Given the description of an element on the screen output the (x, y) to click on. 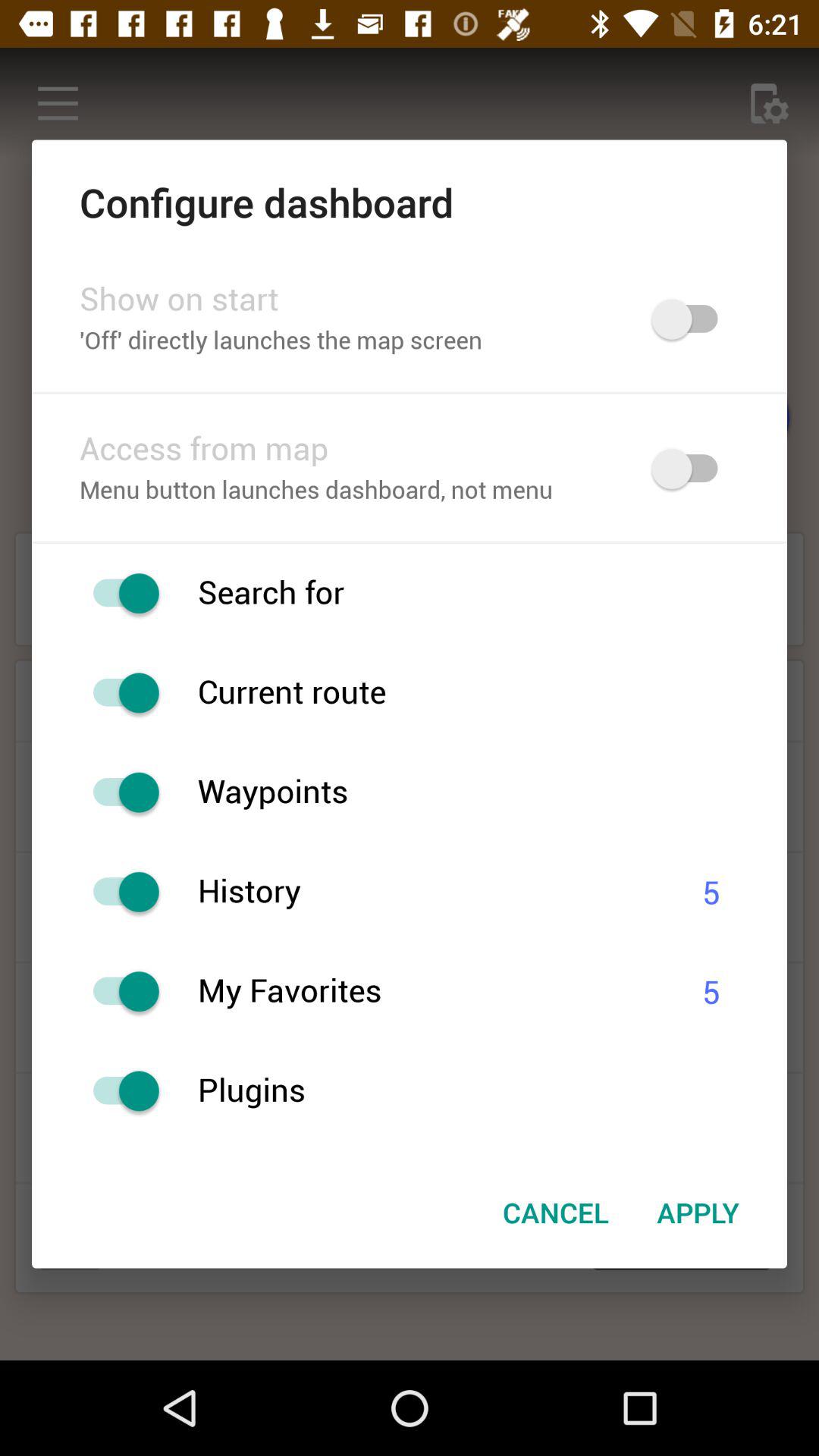
toggle map option (691, 468)
